Given the description of an element on the screen output the (x, y) to click on. 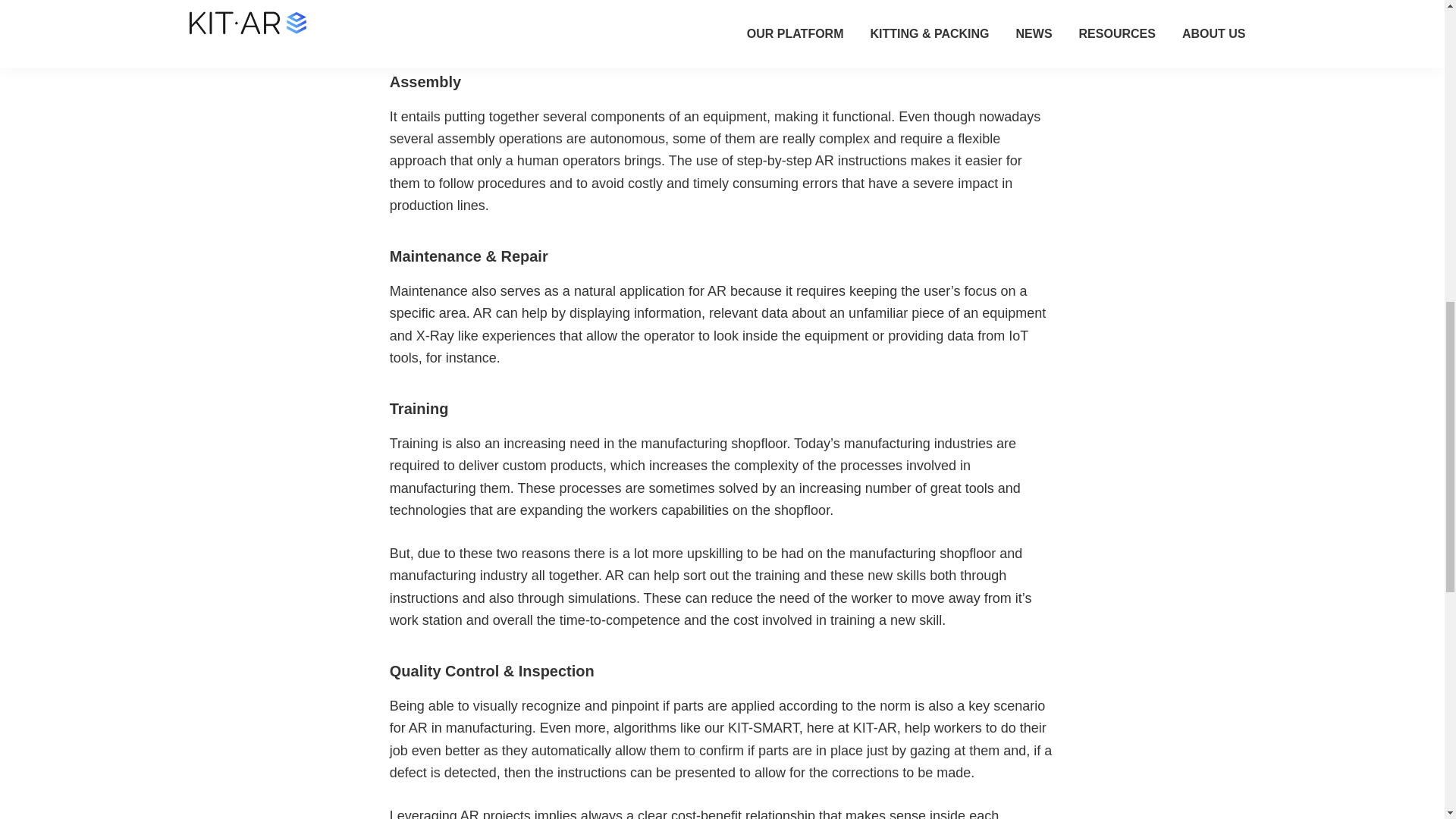
KIT-AR (480, 7)
